Given the description of an element on the screen output the (x, y) to click on. 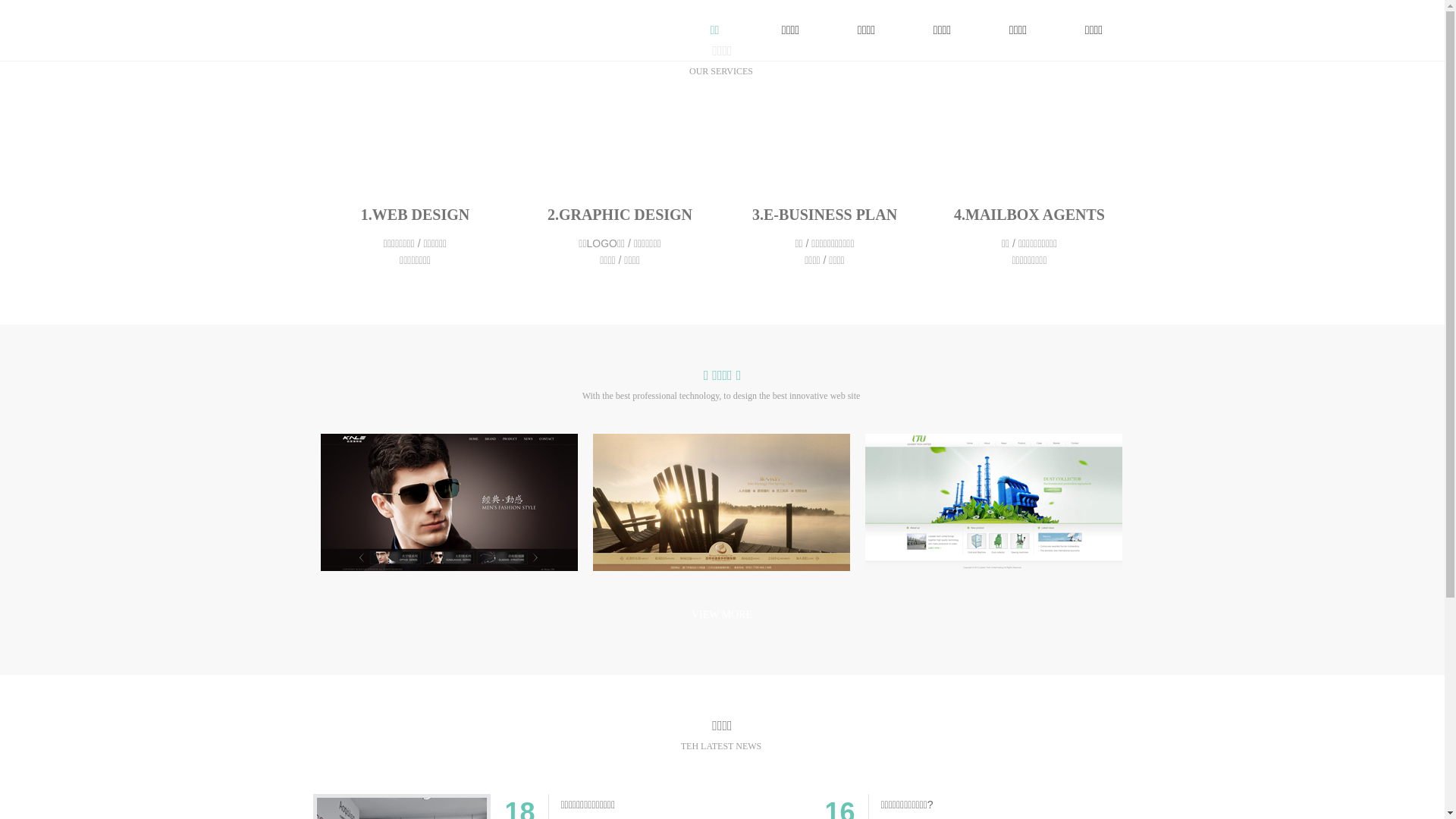
VIEW MORE Element type: text (721, 614)
